Given the description of an element on the screen output the (x, y) to click on. 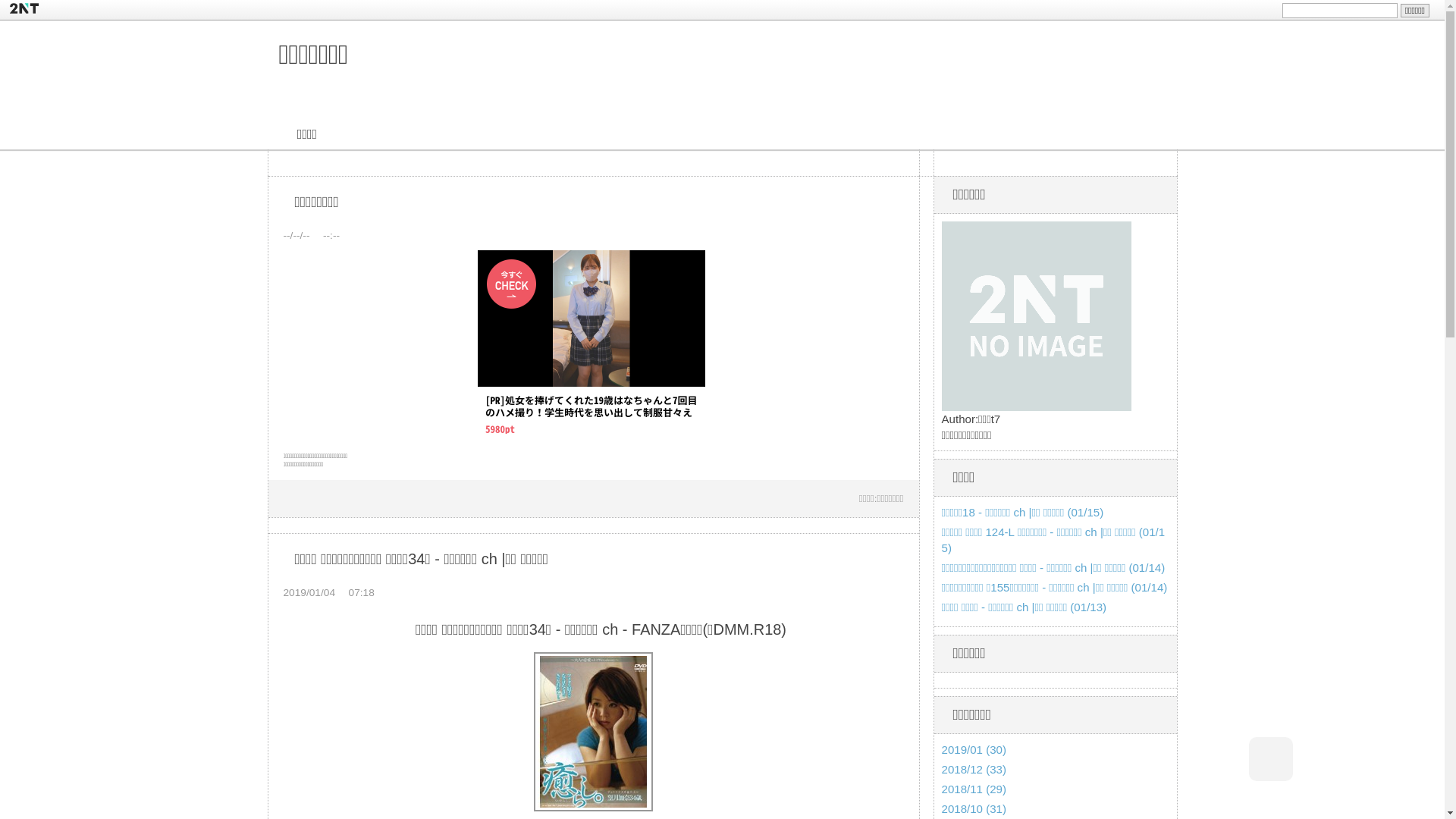
2018/12 (33) Element type: text (974, 768)
2018/10 (31) Element type: text (974, 808)
2019/01 (30) Element type: text (974, 749)
2018/11 (29) Element type: text (974, 788)
